Given the description of an element on the screen output the (x, y) to click on. 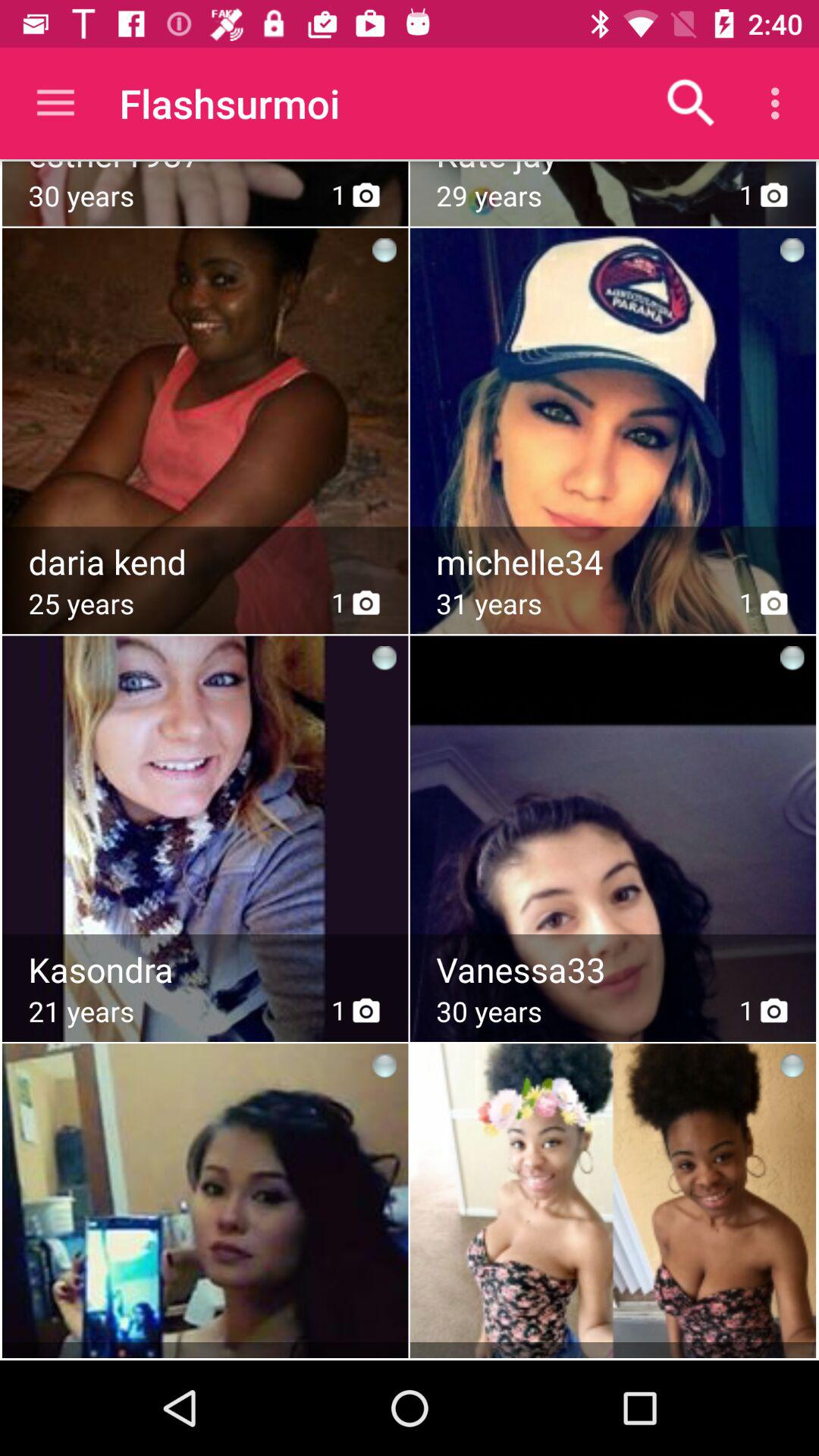
turn on app to the left of the flashsurmoi item (55, 103)
